Given the description of an element on the screen output the (x, y) to click on. 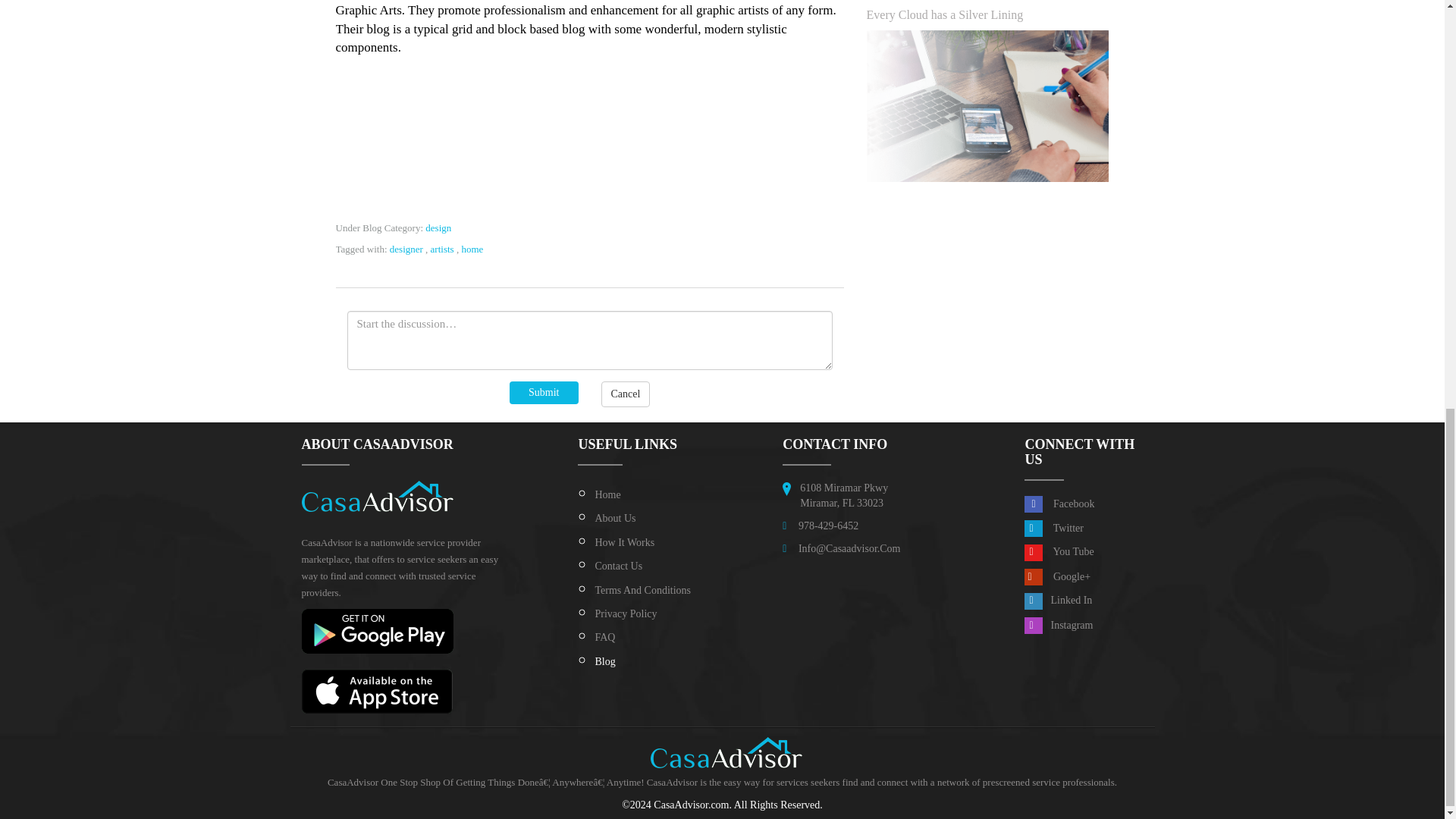
Submit (543, 392)
designer (406, 248)
artists (442, 248)
Every Cloud has a Silver Lining (944, 14)
Blog (604, 661)
About Us (614, 518)
Cancel (624, 394)
home (472, 248)
Terms And Conditions (642, 590)
design (438, 227)
How It Works (623, 542)
FAQ (604, 636)
Privacy Policy (625, 613)
Contact Us (618, 565)
